Given the description of an element on the screen output the (x, y) to click on. 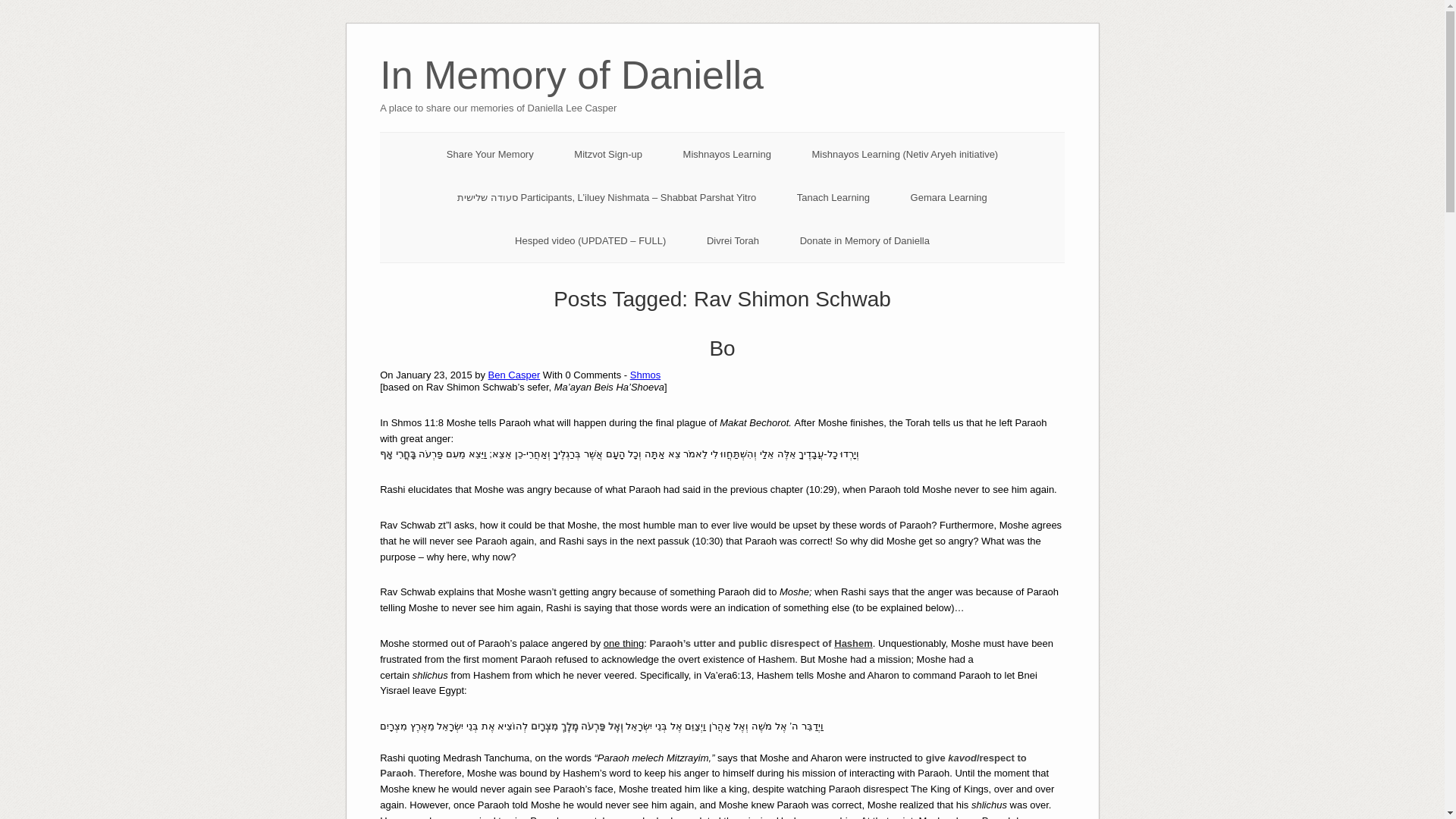
Divrei Torah (732, 240)
Share Your Memory (490, 153)
Mitzvot Sign-up (607, 153)
Mishnayos Learning (726, 153)
Gemara Learning (949, 197)
Tanach Learning (832, 197)
A place to share our memories of Daniella Lee Casper (571, 96)
